Given the description of an element on the screen output the (x, y) to click on. 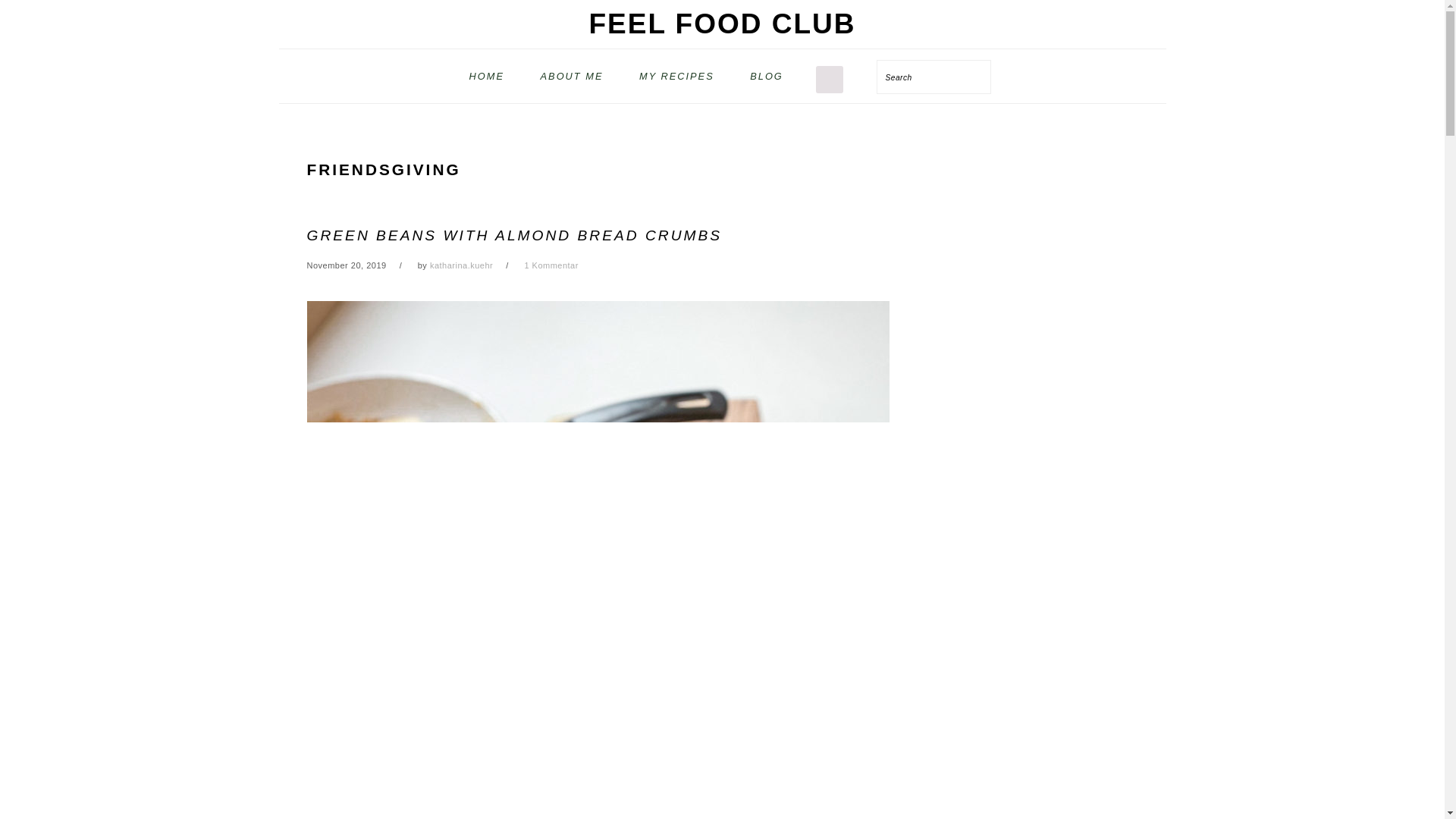
HOME (485, 75)
GREEN BEANS WITH ALMOND BREAD CRUMBS (513, 235)
1 Kommentar (551, 265)
FEEL FOOD CLUB (722, 23)
ABOUT ME (572, 75)
MY RECIPES (676, 75)
katharina.kuehr (461, 265)
BLOG (766, 75)
